Given the description of an element on the screen output the (x, y) to click on. 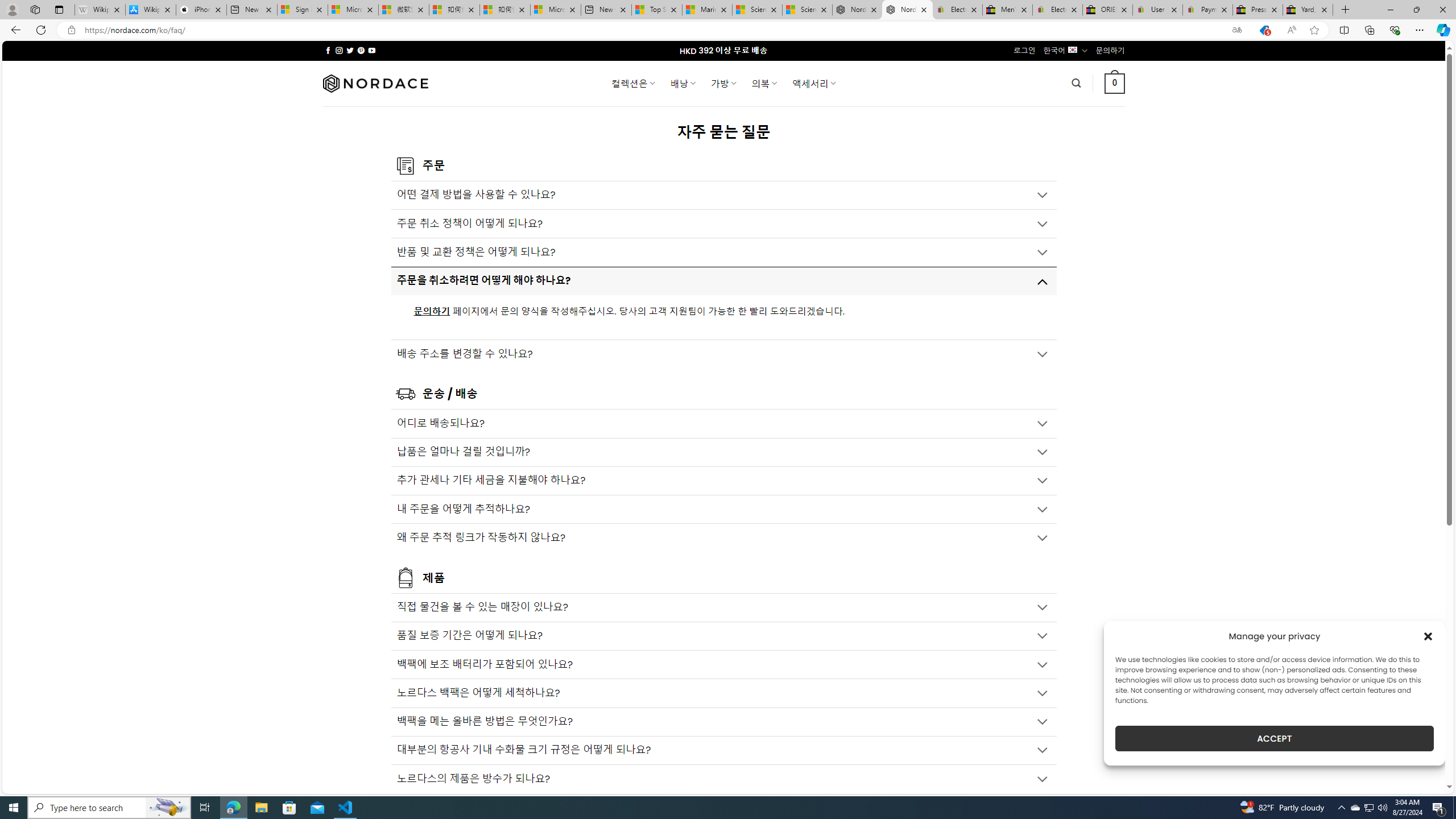
iPhone - Apple (201, 9)
Nordace - FAQ (907, 9)
Follow on Facebook (327, 50)
